Given the description of an element on the screen output the (x, y) to click on. 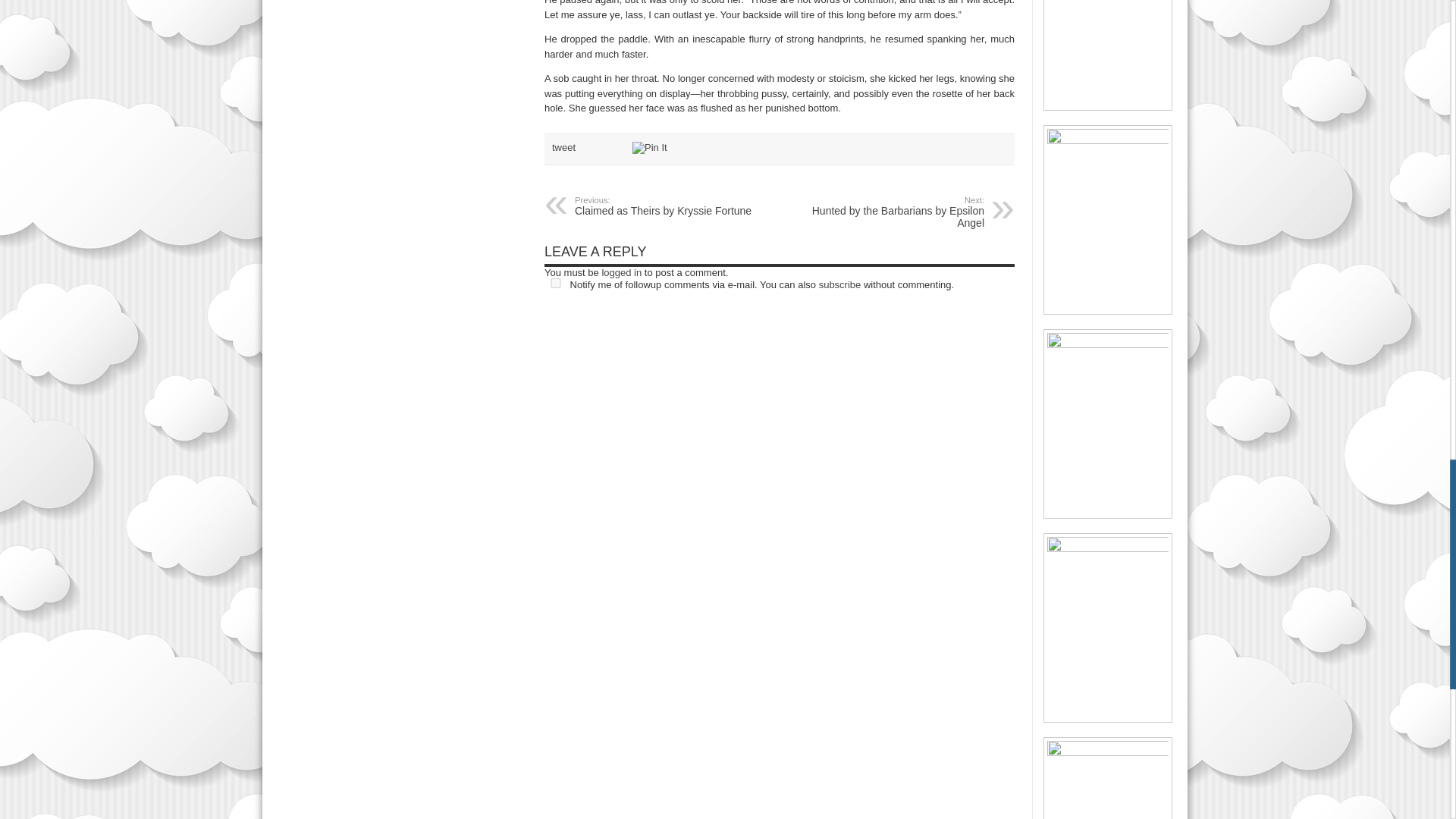
yes (555, 283)
Pin It (648, 147)
